Given the description of an element on the screen output the (x, y) to click on. 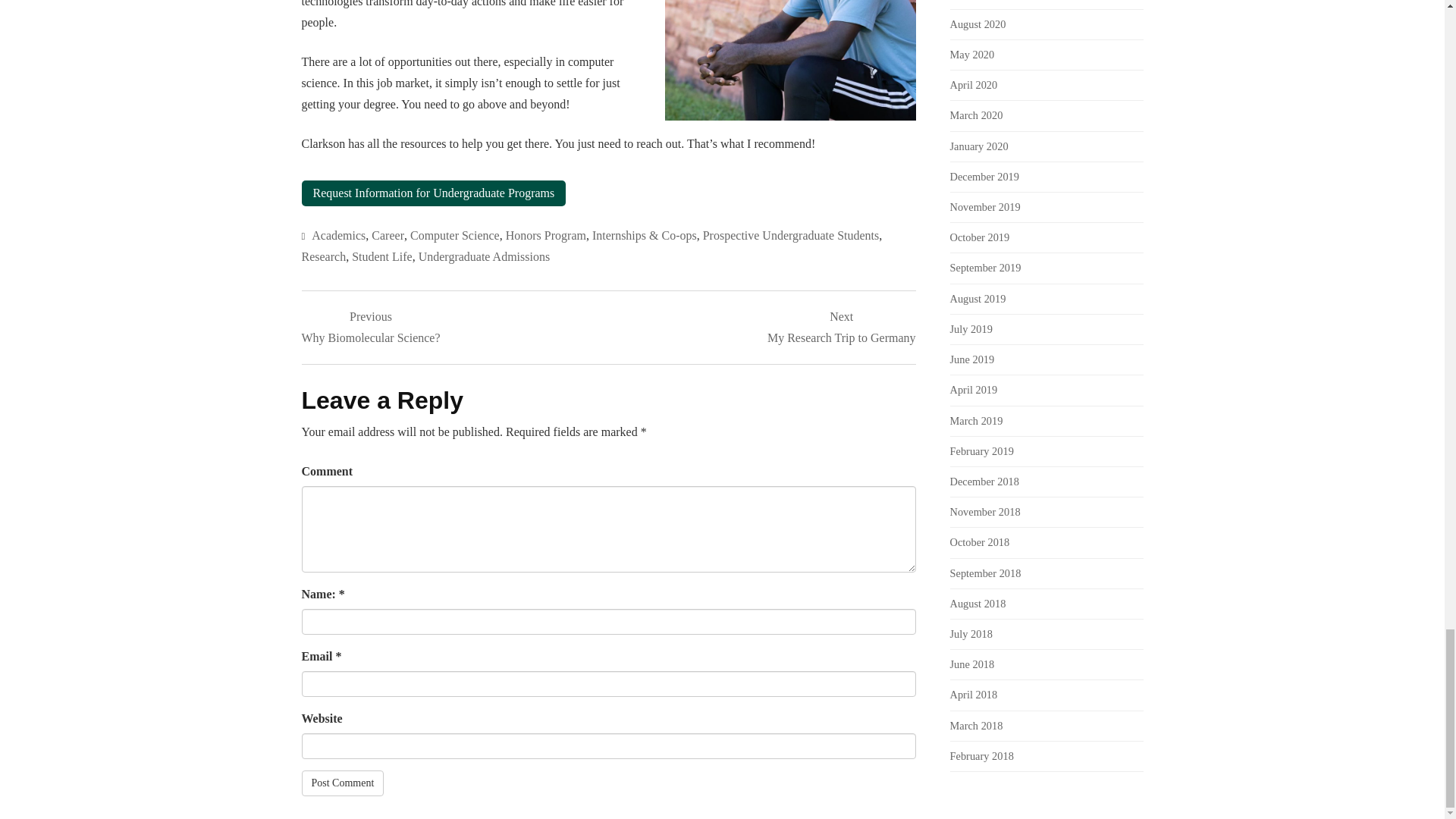
Computer Science (454, 235)
Post Comment (342, 783)
Student Life (382, 256)
Honors Program (545, 235)
Undergraduate Admissions (484, 256)
Research (323, 256)
Career (387, 235)
Prospective Undergraduate Students (791, 235)
Academics (338, 235)
